Given the description of an element on the screen output the (x, y) to click on. 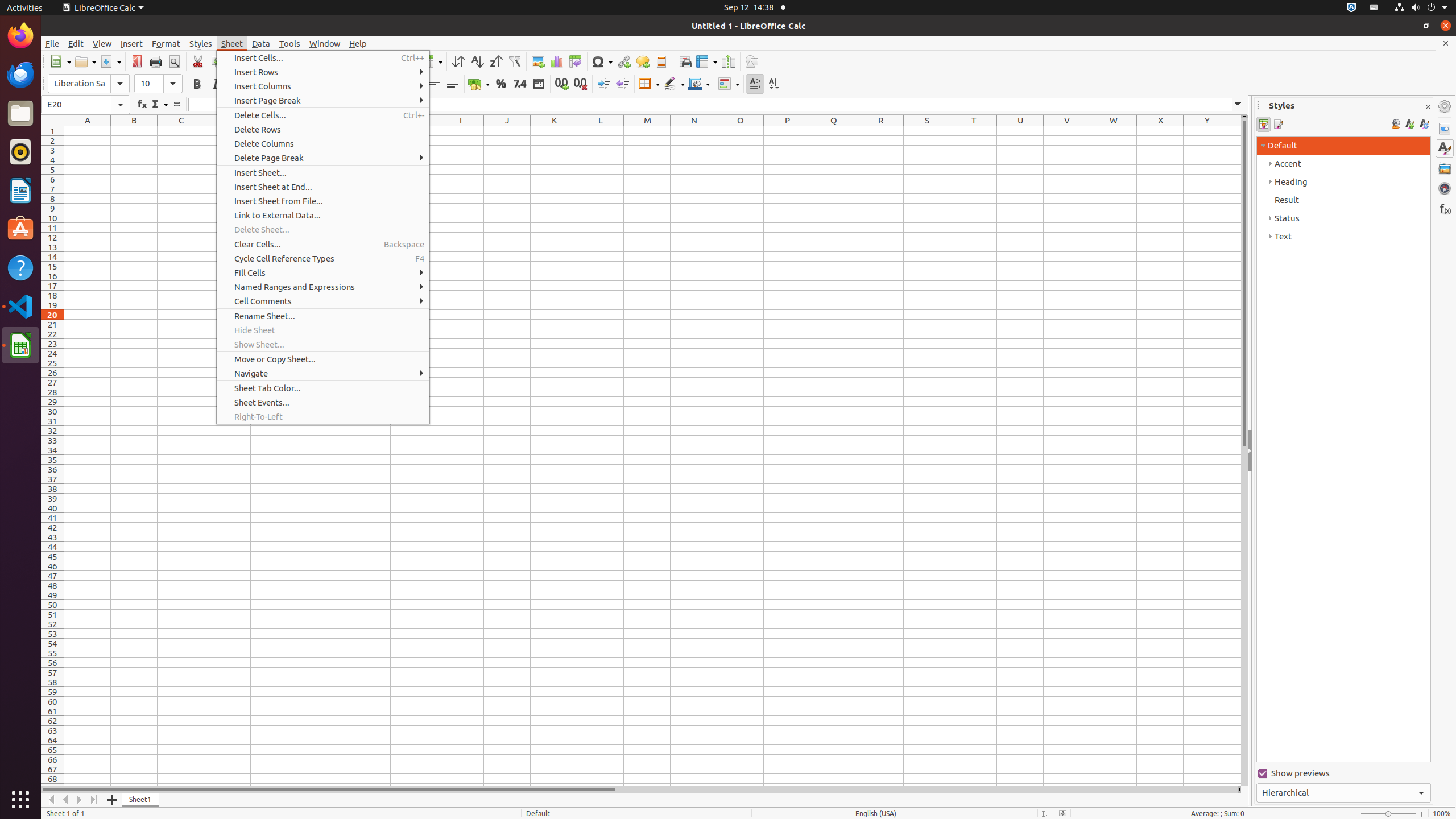
Clear Cells... Element type: menu-item (322, 244)
Move or Copy Sheet... Element type: menu-item (322, 359)
:1.21/StatusNotifierItem Element type: menu (1373, 7)
V1 Element type: table-cell (1066, 130)
Text direction from top to bottom Element type: toggle-button (773, 83)
